Given the description of an element on the screen output the (x, y) to click on. 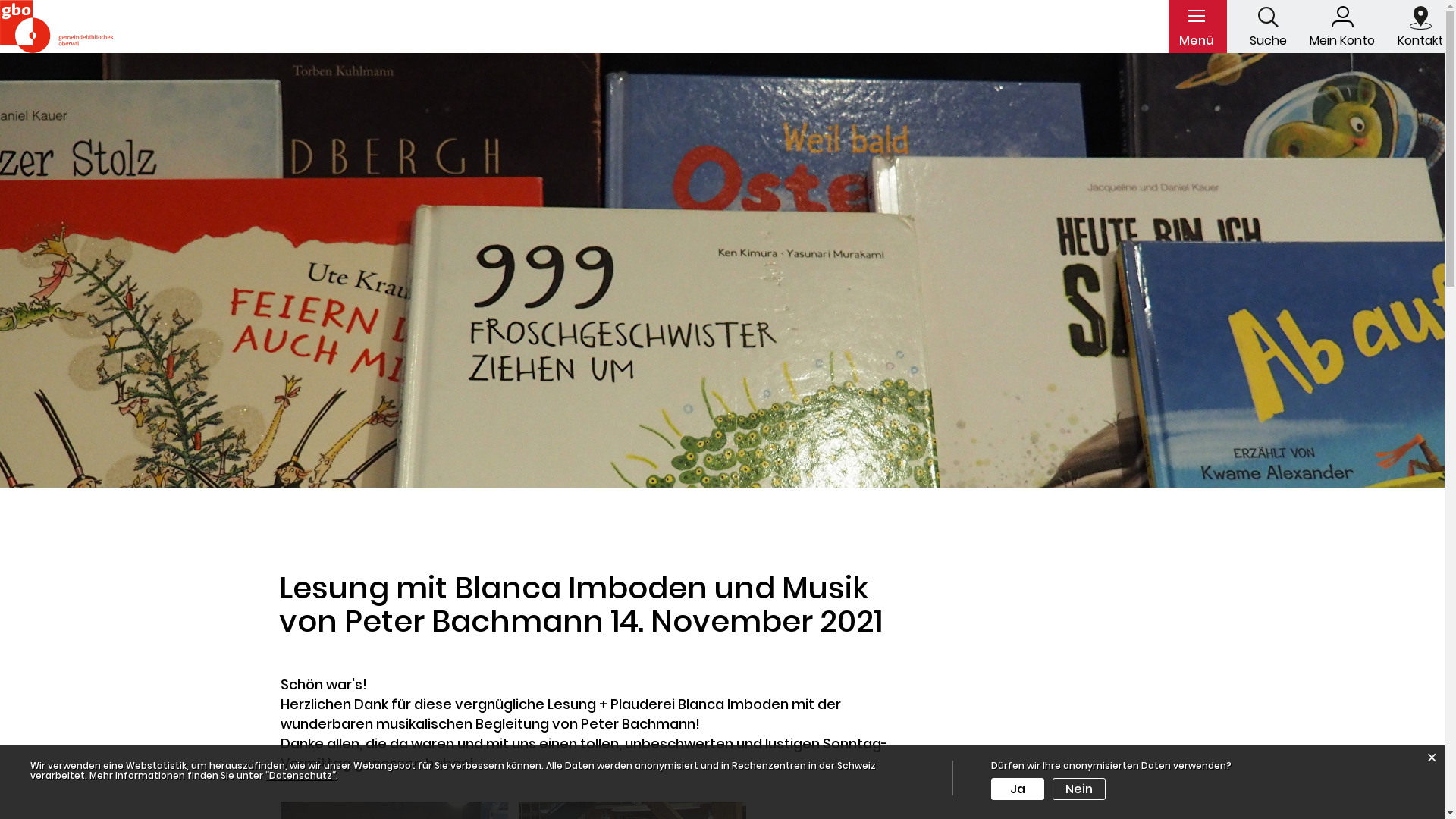
zur Startseite Element type: text (7, 7)
Nein Element type: text (1078, 789)
Mein Konto Element type: text (1341, 26)
Gemeindebibliothek Oberwil Element type: hover (56, 26)
Kontakt Element type: text (1420, 26)
Suche Element type: text (1267, 26)
Ja Element type: text (1017, 789)
